Given the description of an element on the screen output the (x, y) to click on. 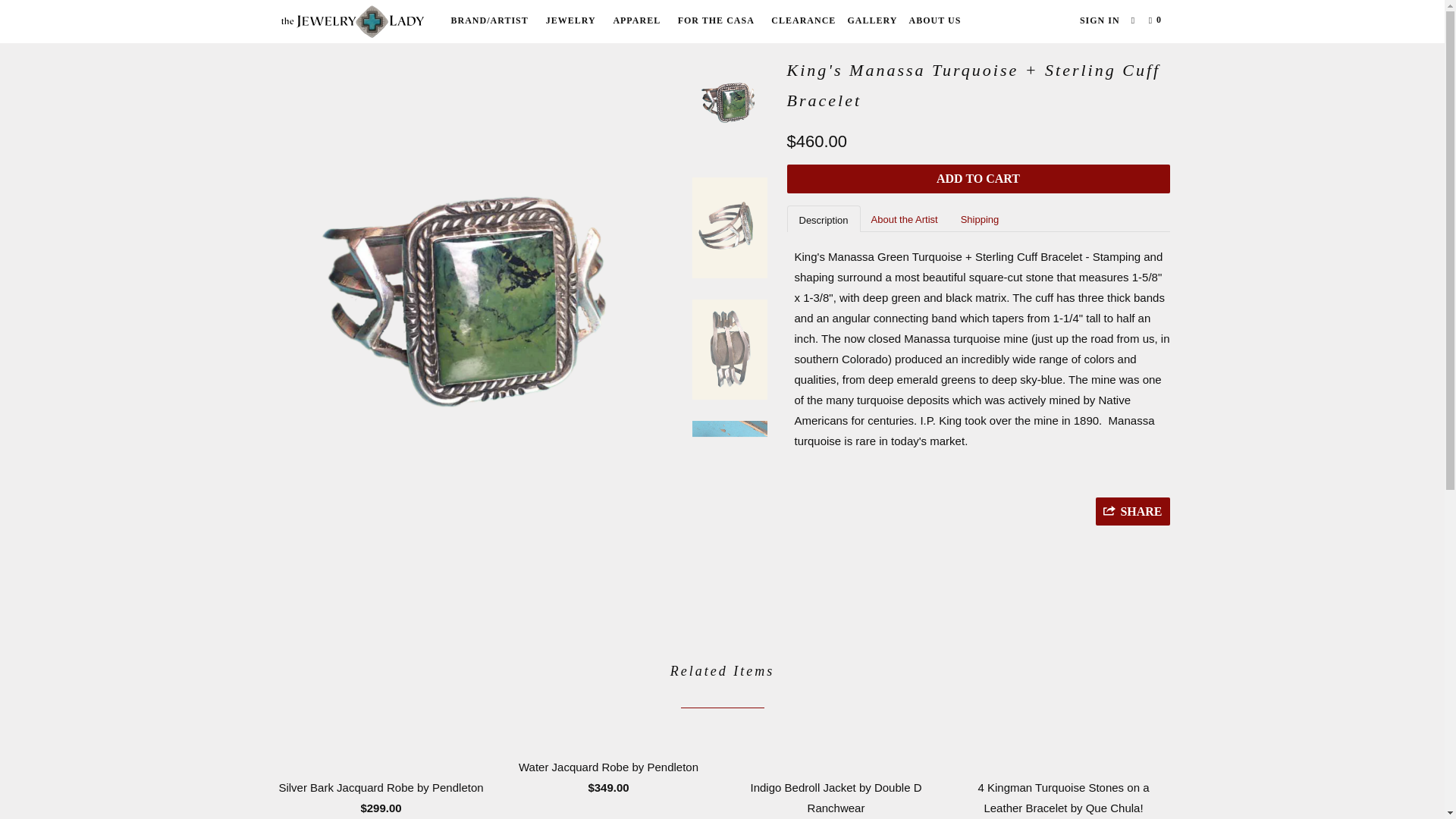
My Account  (1099, 20)
The Jewelry Lady (288, 30)
All (321, 30)
The Jewelry Lady (352, 21)
